Given the description of an element on the screen output the (x, y) to click on. 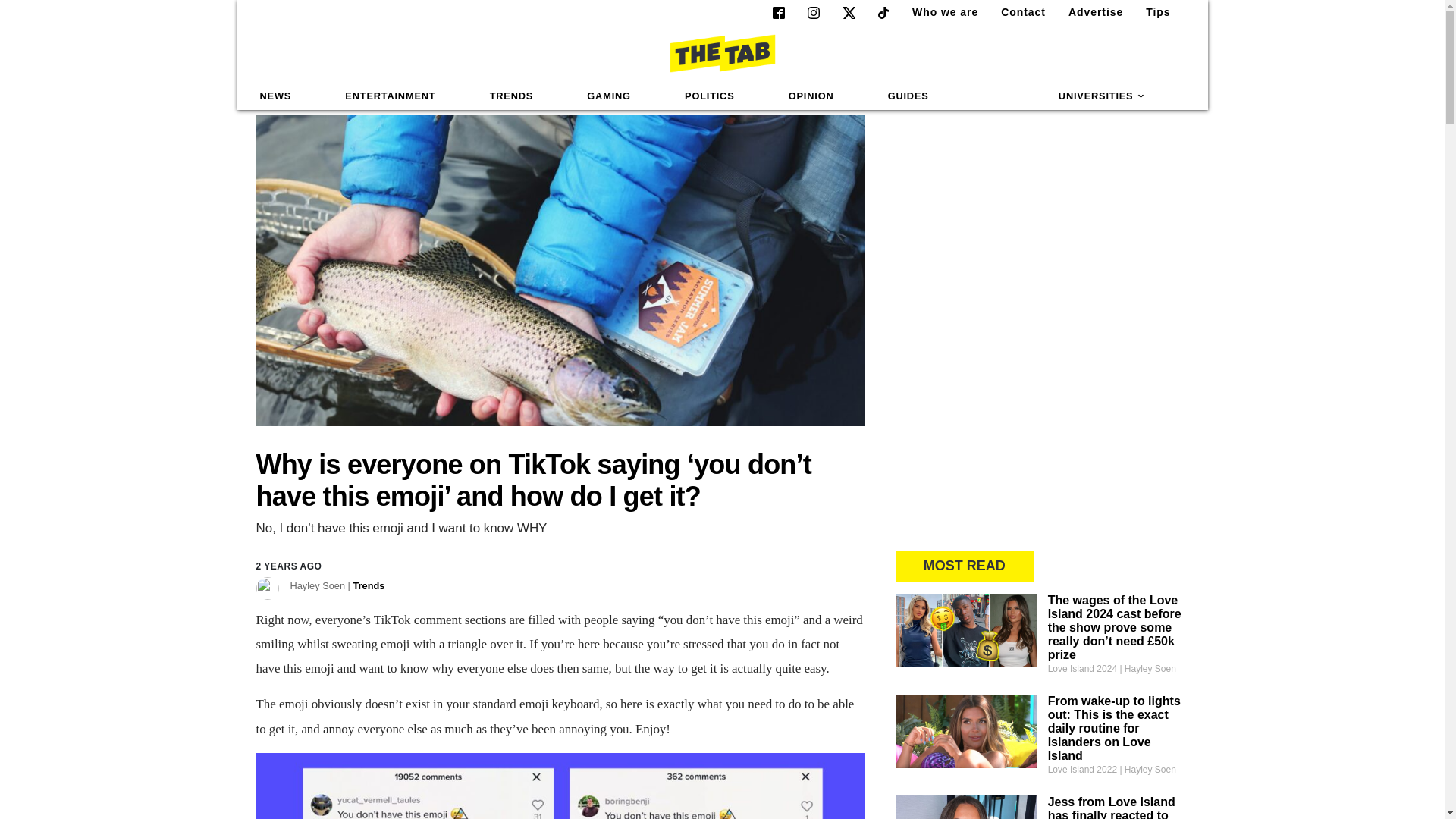
Advertise (1089, 11)
OPINION (811, 96)
UNIVERSITIES (1101, 96)
GAMING (608, 96)
Posts by Hayley Soen (336, 585)
NEWS (275, 96)
ENTERTAINMENT (389, 96)
Who we are (938, 11)
POLITICS (708, 96)
Tips (1152, 11)
GUIDES (908, 96)
TRENDS (511, 96)
Contact (1016, 11)
